Given the description of an element on the screen output the (x, y) to click on. 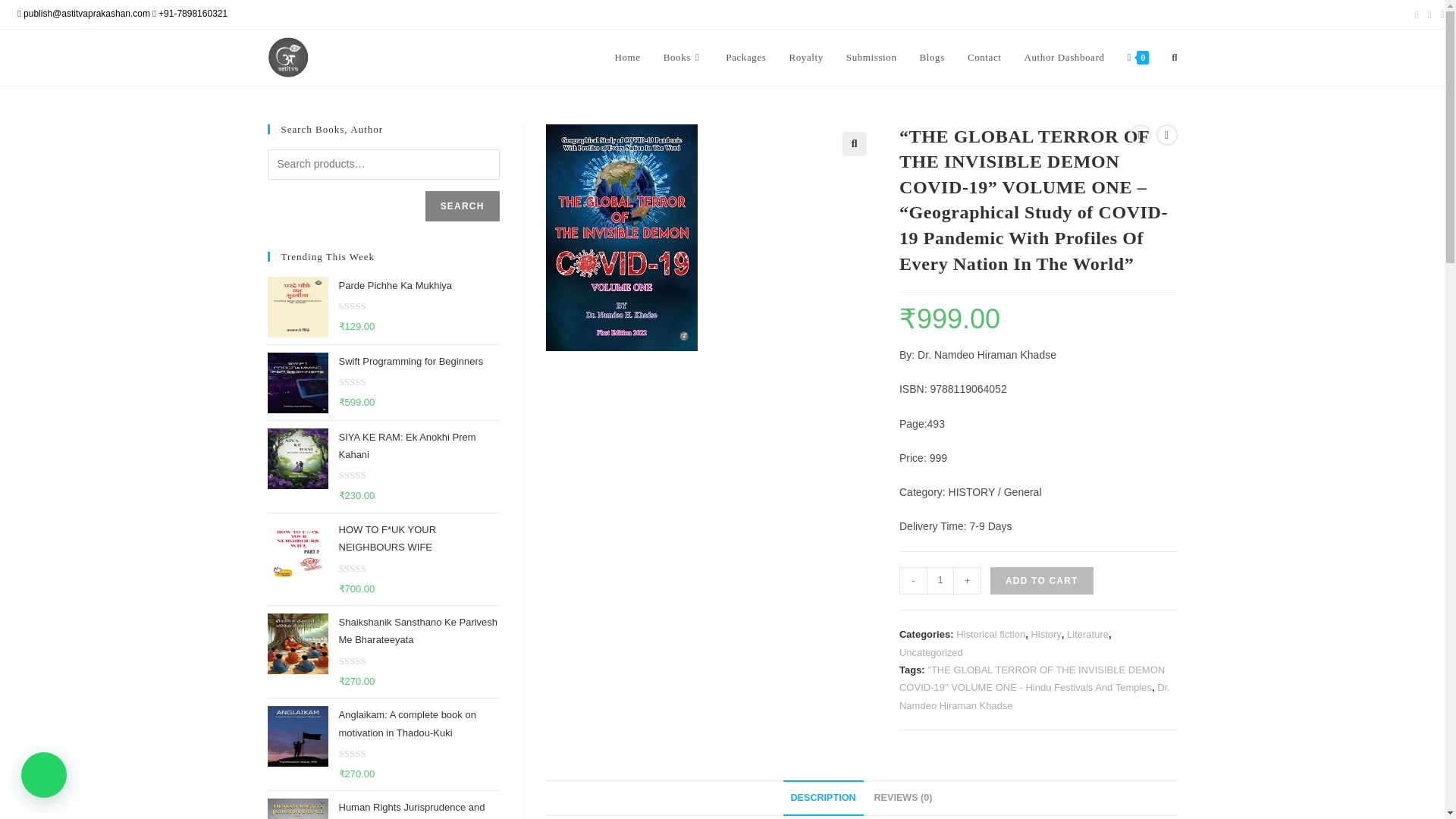
1 (939, 580)
Books (683, 57)
